Given the description of an element on the screen output the (x, y) to click on. 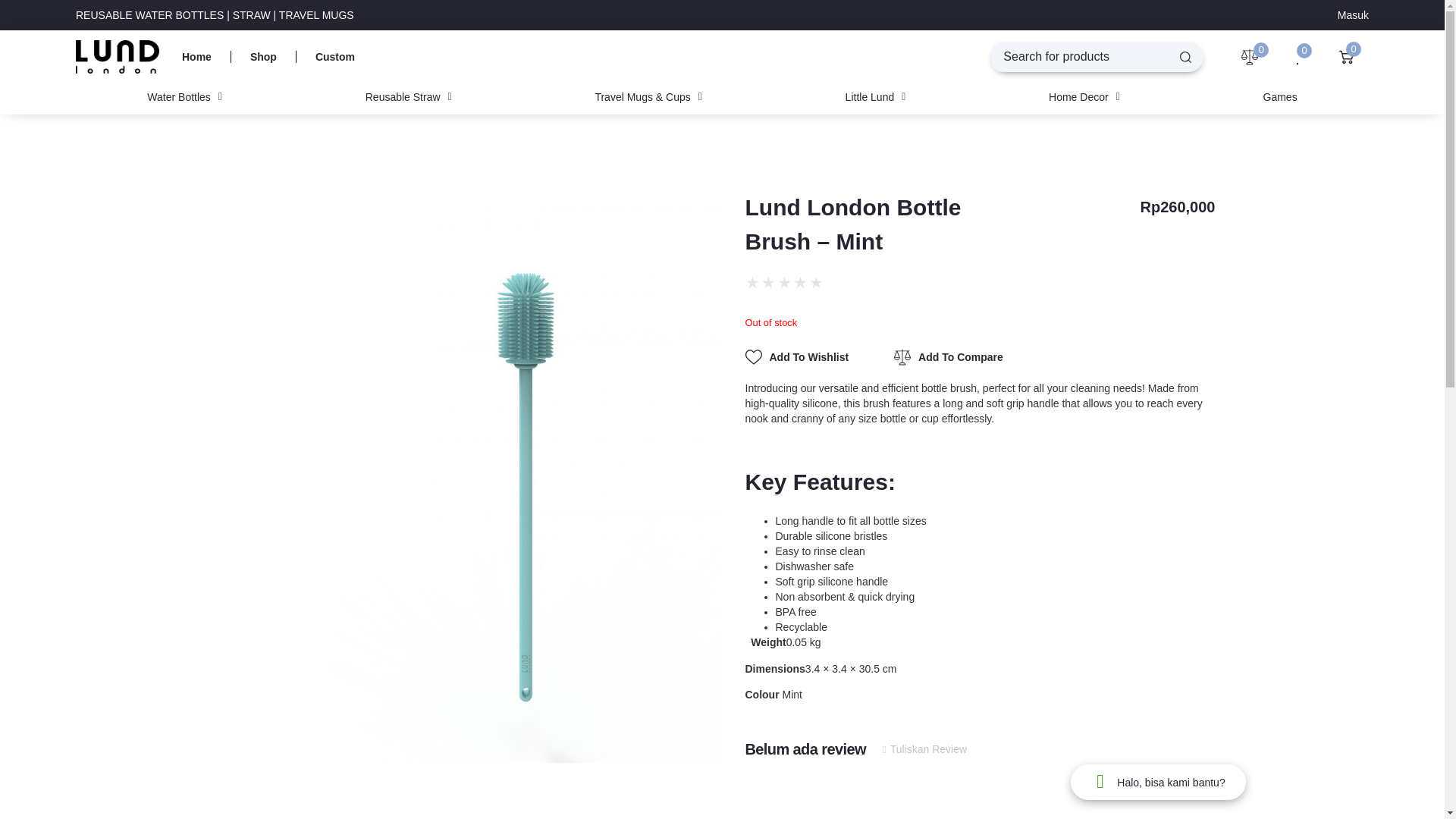
0 (1253, 56)
Masuk (1353, 14)
Shop (263, 56)
View your shopping cart (1350, 56)
0 (1350, 56)
Home (197, 56)
Games (1279, 96)
Reusable Straw (408, 96)
Water Bottles (184, 96)
Home Decor (1083, 96)
Little Lund (874, 96)
Custom (334, 56)
